Given the description of an element on the screen output the (x, y) to click on. 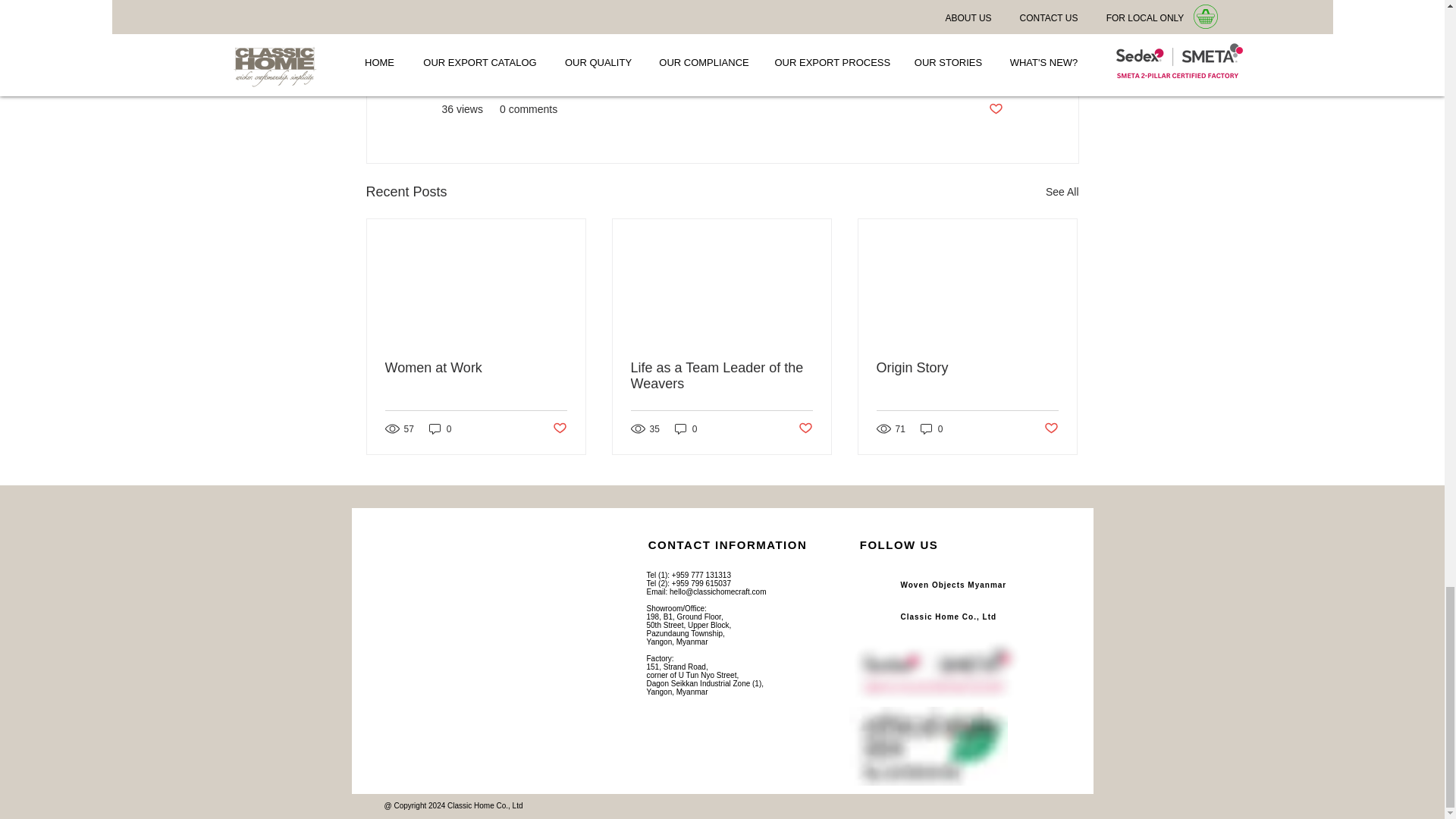
Post not marked as liked (558, 428)
Getting Started (967, 63)
Life as a Team Leader of the Weavers (721, 376)
Women at Work (476, 367)
See All (1061, 191)
0 (440, 428)
Post not marked as liked (995, 109)
Post not marked as liked (804, 428)
0 (685, 428)
